Given the description of an element on the screen output the (x, y) to click on. 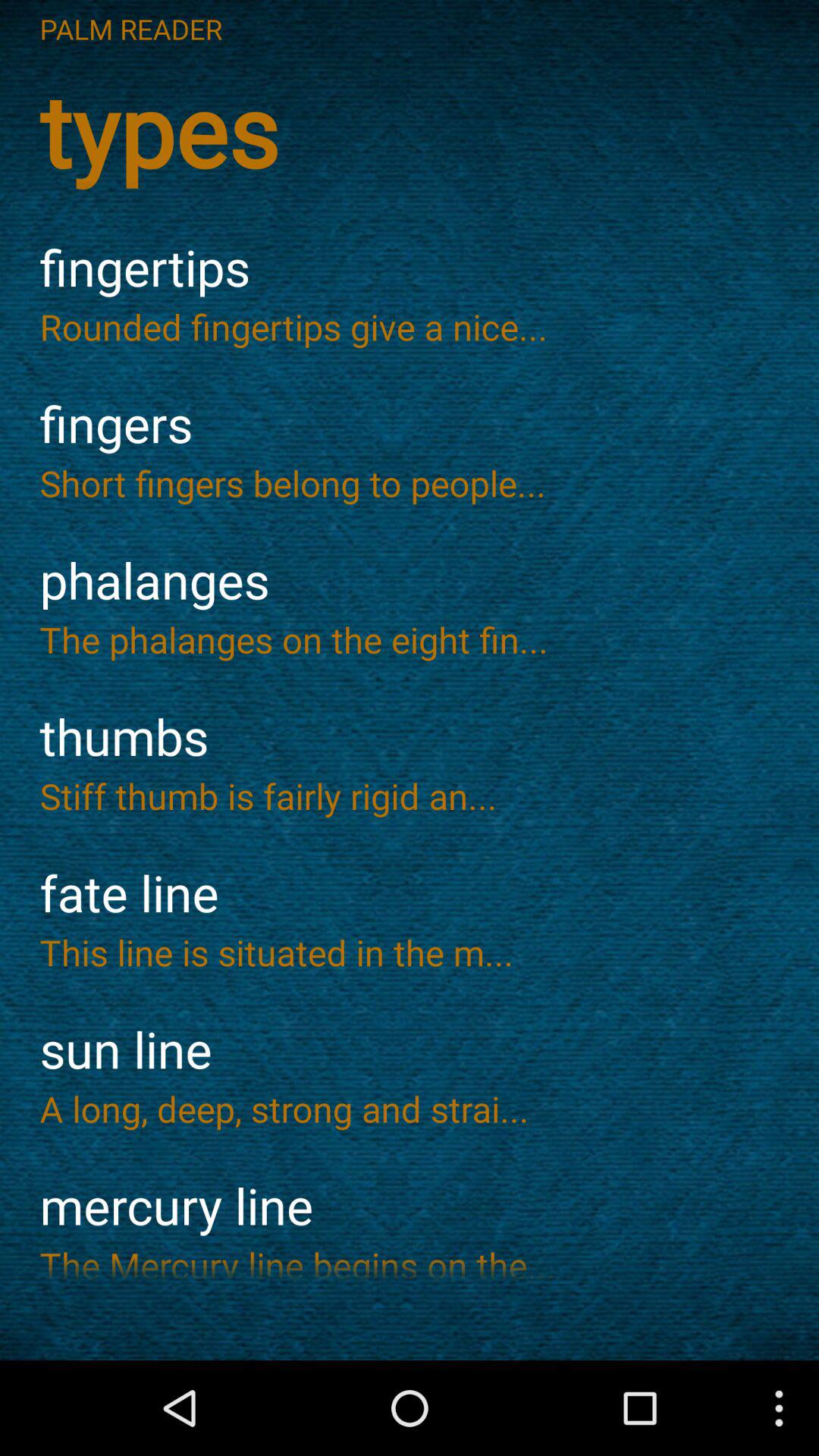
tap the short fingers belong app (409, 482)
